Given the description of an element on the screen output the (x, y) to click on. 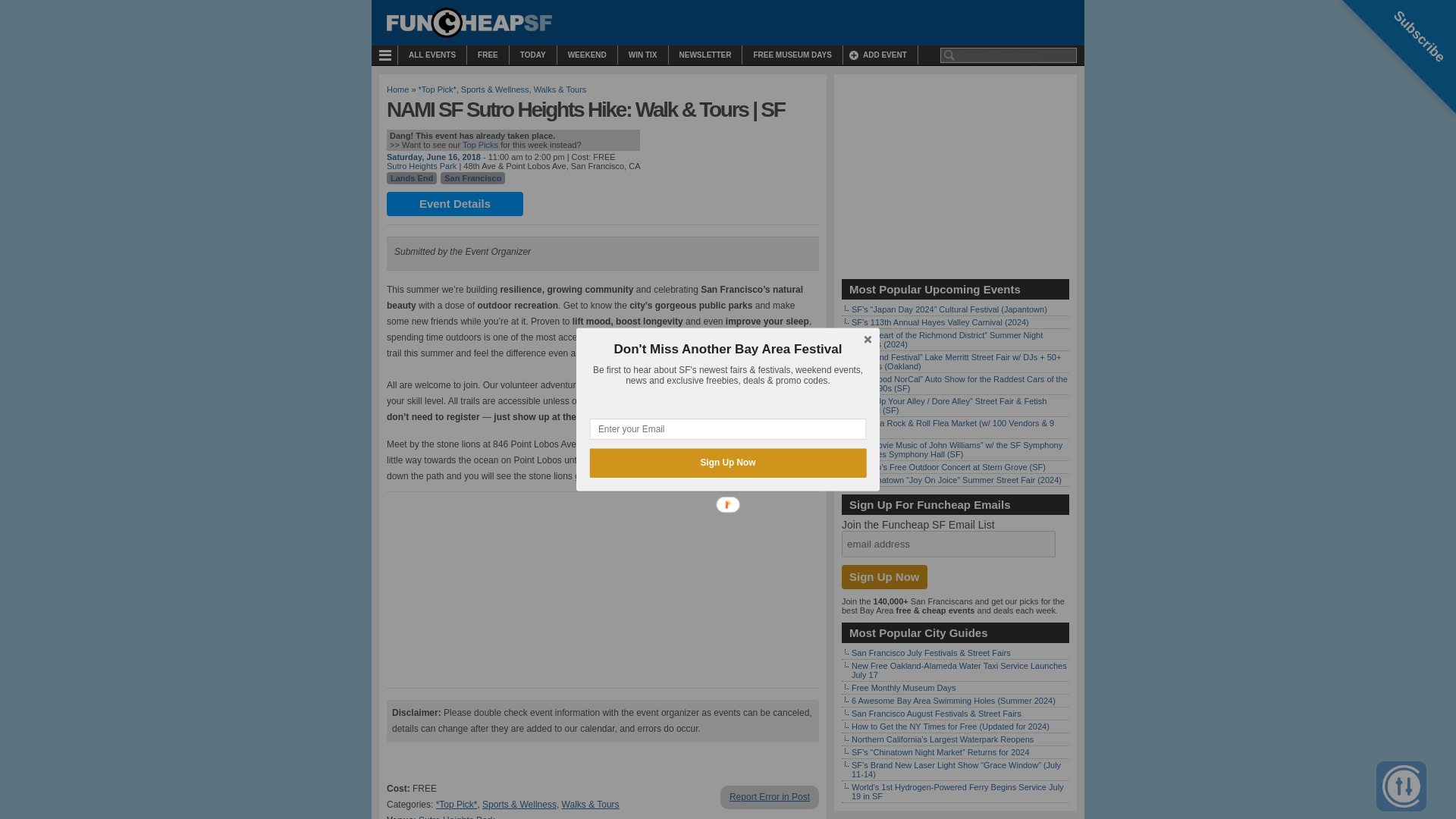
TODAY (532, 54)
MENU (387, 55)
Free Monthly Museum Days (903, 687)
NEWSLETTER (705, 54)
Sub-Menu Toggle (387, 55)
Home (398, 89)
FREE (487, 54)
WIN TIX (642, 54)
ADD EVENT (880, 54)
New Free Oakland-Alameda Water Taxi Service Launches July 17 (959, 669)
WEEKEND (587, 54)
Sign Up Now (884, 576)
ALL EVENTS (431, 54)
FREE MUSEUM DAYS (792, 54)
